Given the description of an element on the screen output the (x, y) to click on. 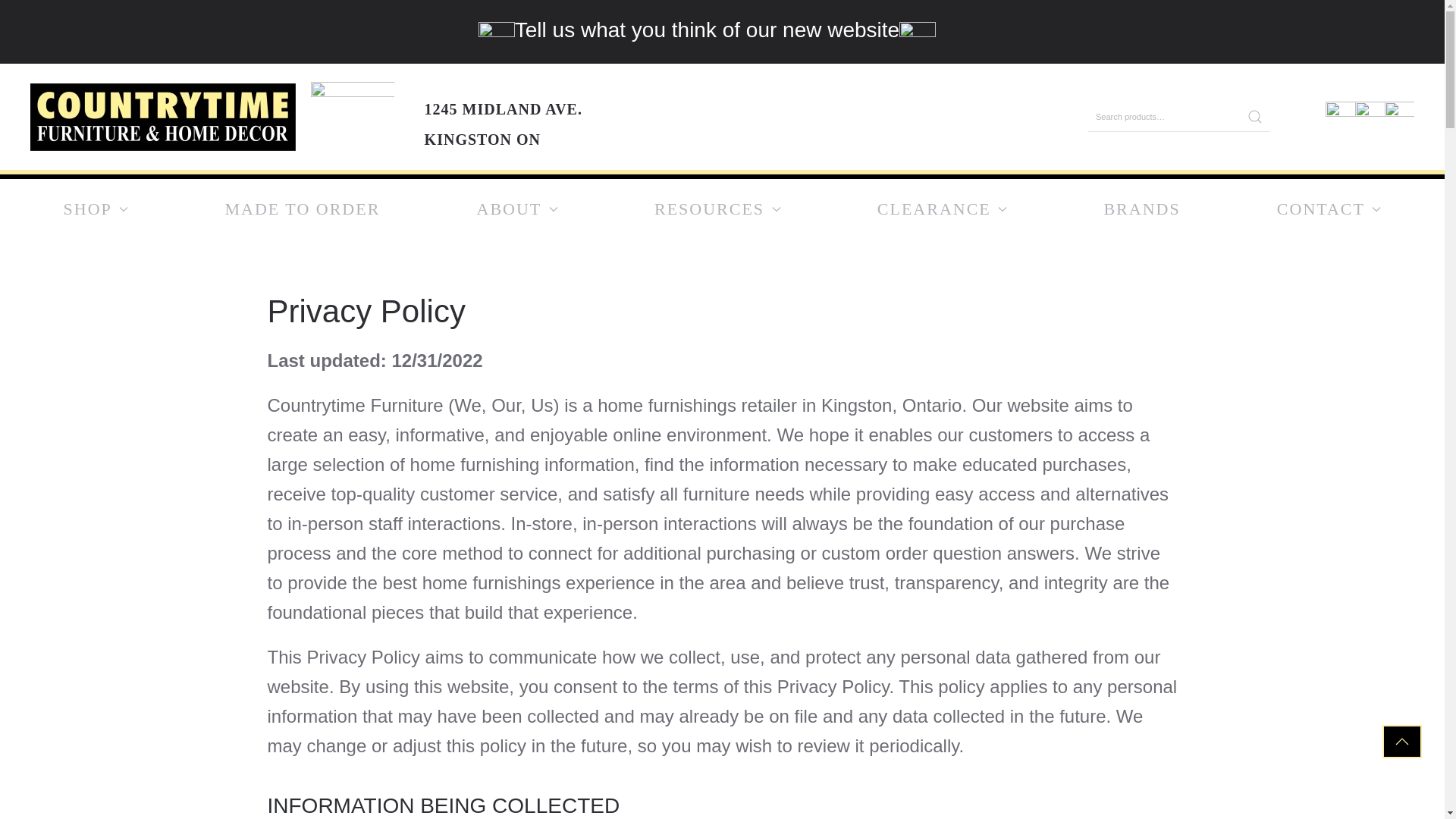
Search (1254, 116)
SHOP (95, 209)
1245 MIDLAND AVE. (503, 108)
KINGSTON ON (482, 139)
